Given the description of an element on the screen output the (x, y) to click on. 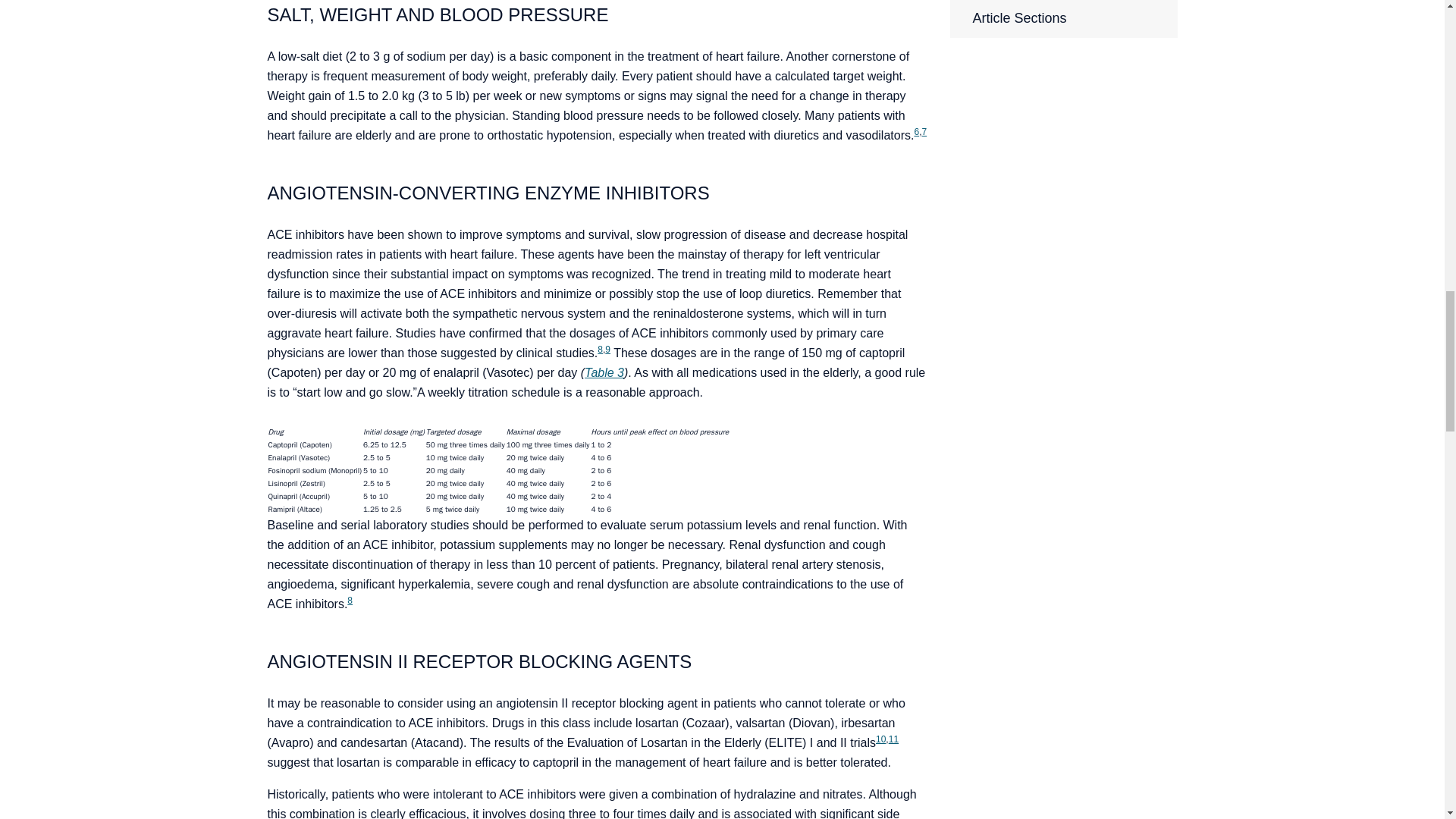
11 (893, 738)
Table 3 (604, 372)
10 (880, 738)
